Given the description of an element on the screen output the (x, y) to click on. 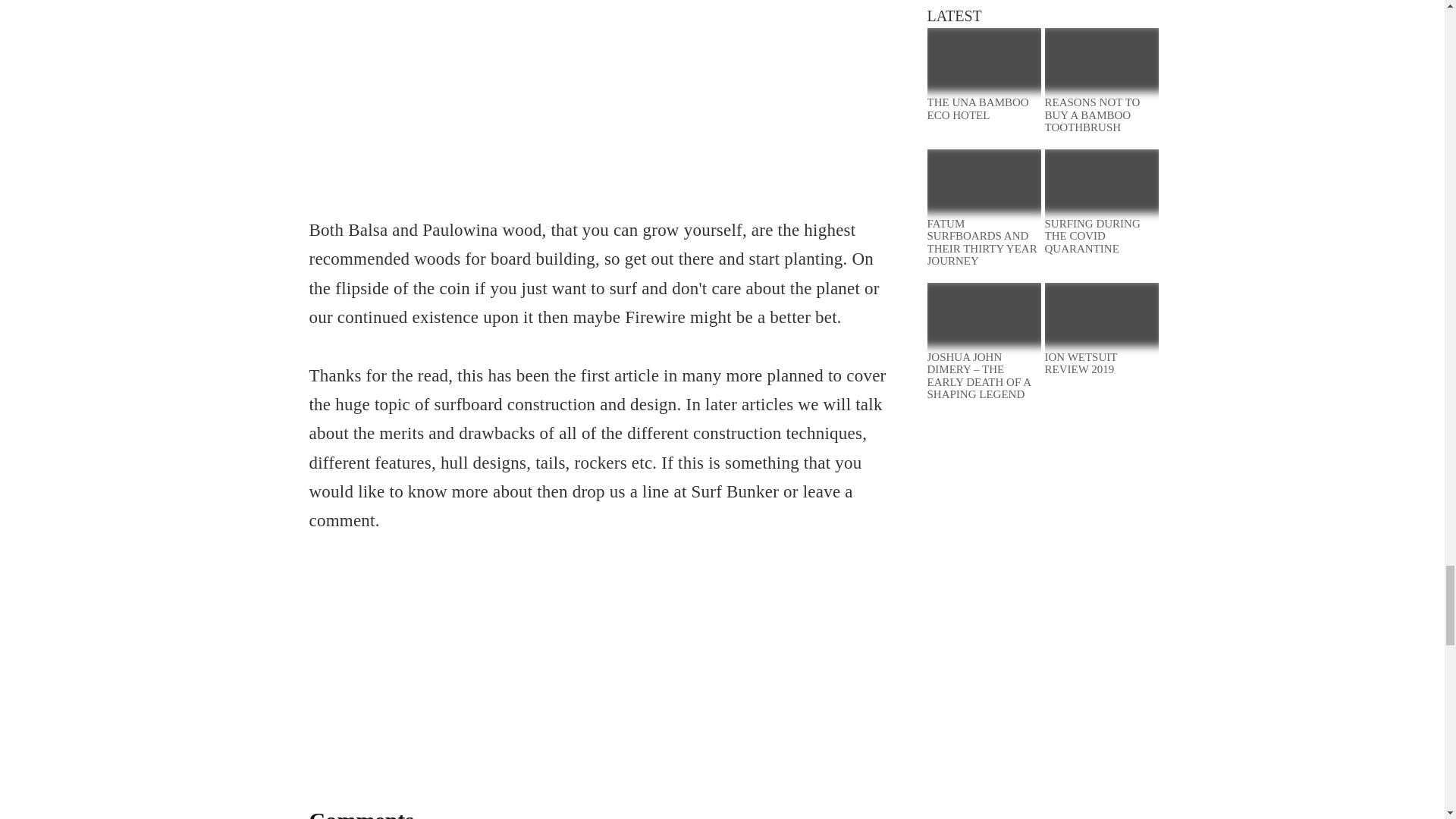
Comments (360, 813)
